Given the description of an element on the screen output the (x, y) to click on. 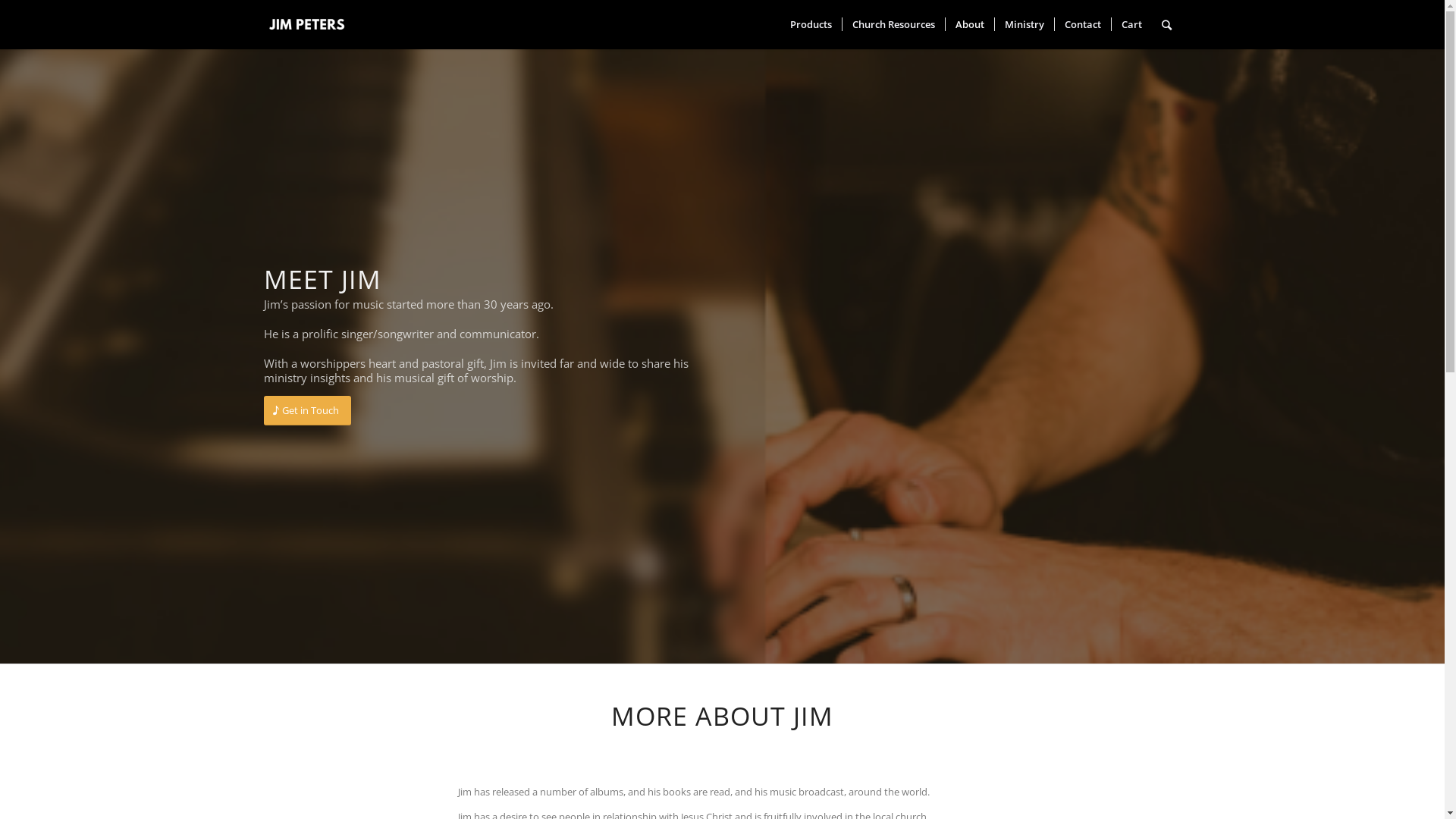
Cart Element type: text (1130, 24)
Ministry Element type: text (1023, 24)
Church Resources Element type: text (892, 24)
Contact Element type: text (1082, 24)
About Element type: text (969, 24)
Products Element type: text (809, 24)
Get in Touch Element type: text (307, 410)
